Given the description of an element on the screen output the (x, y) to click on. 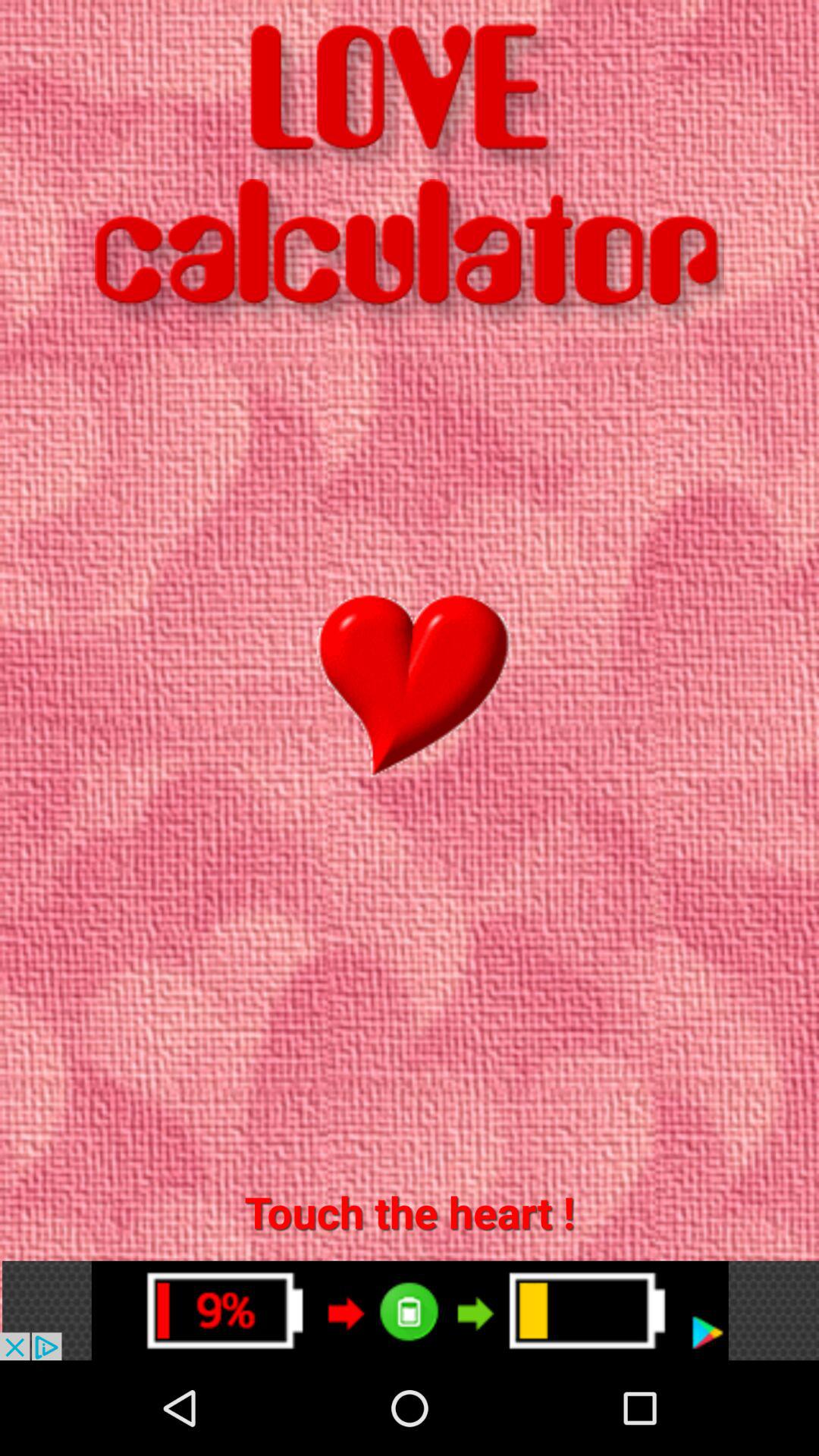
go to advertisement page (409, 1310)
